Given the description of an element on the screen output the (x, y) to click on. 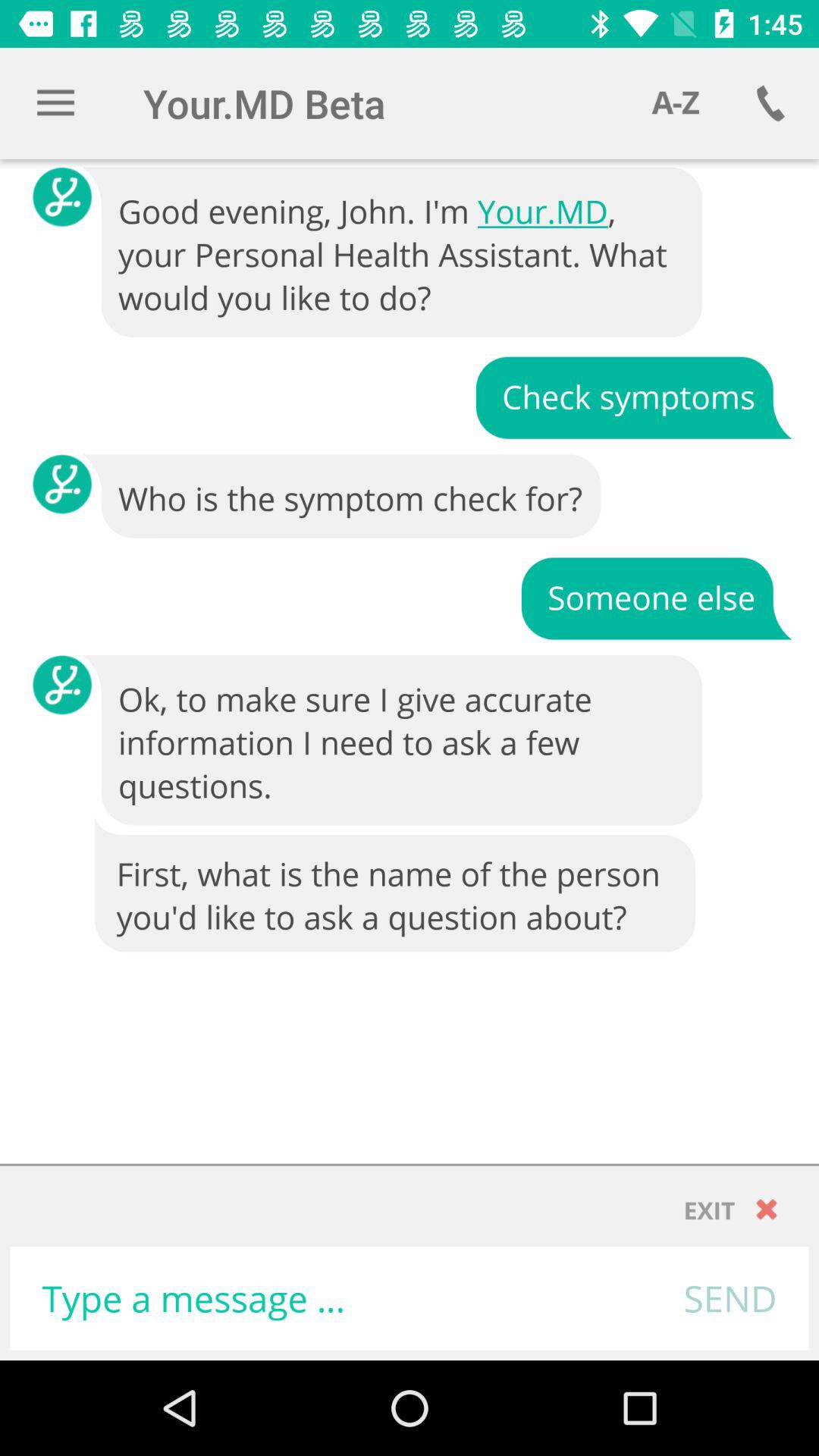
open item above check symptoms item (393, 252)
